Given the description of an element on the screen output the (x, y) to click on. 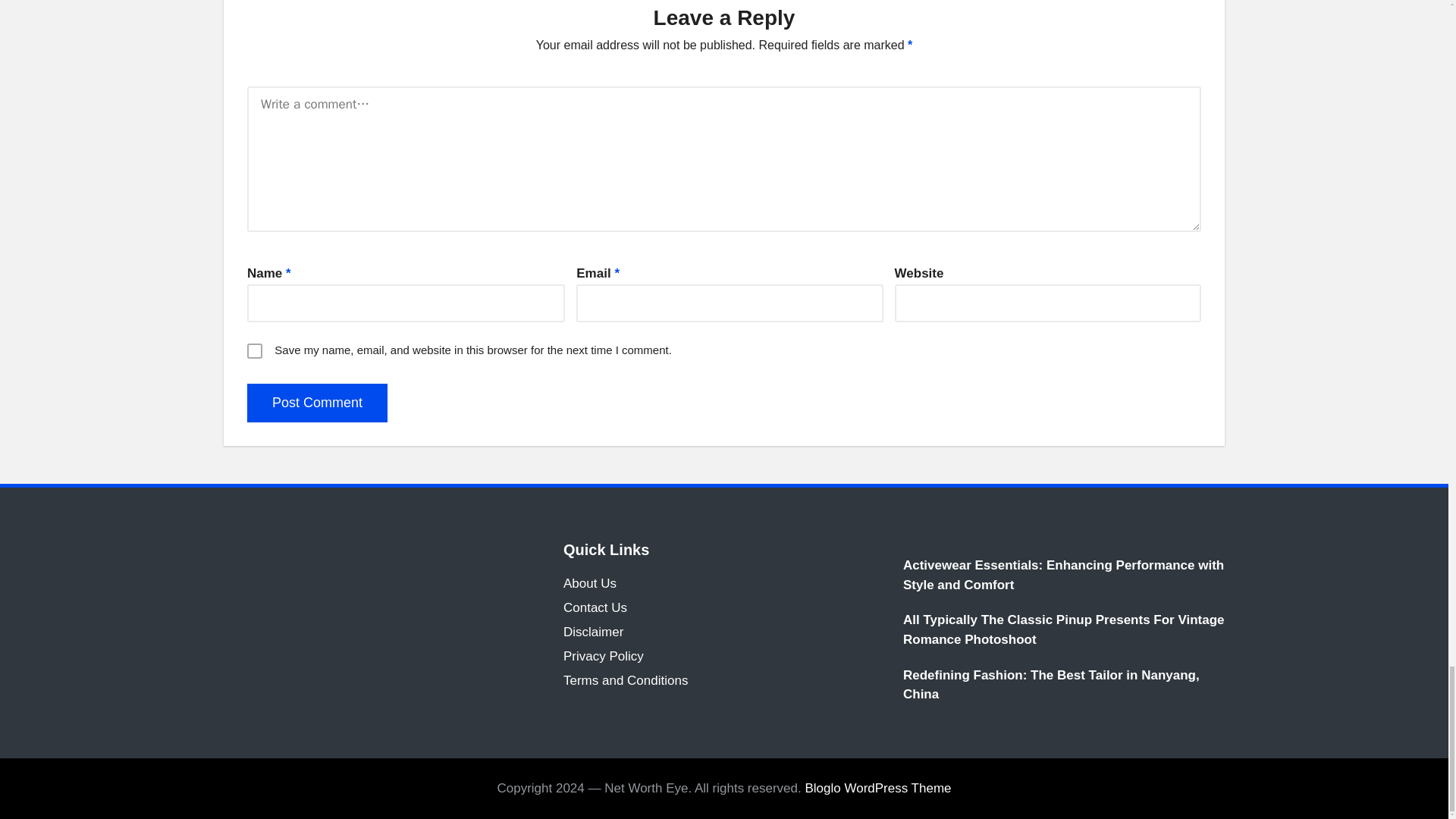
yes (254, 350)
Post Comment (317, 403)
